Given the description of an element on the screen output the (x, y) to click on. 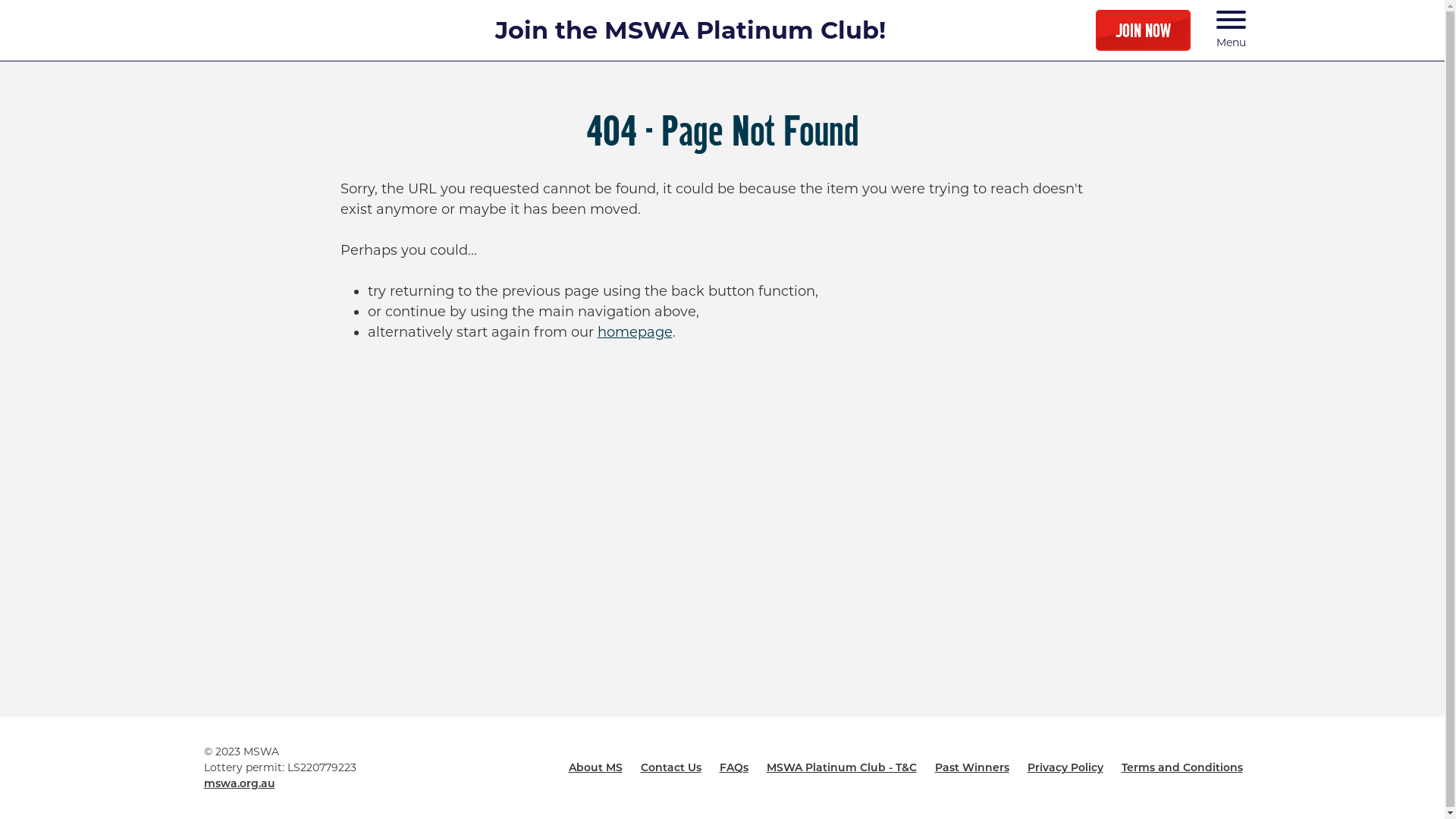
Terms and Conditions Element type: text (1181, 767)
Privacy Policy Element type: text (1064, 767)
Menu Element type: text (1230, 30)
MSWA Platinum Club - T&C Element type: text (840, 767)
FAQs Element type: text (732, 767)
About MS Element type: text (595, 767)
JOIN NOW Element type: text (1142, 29)
homepage Element type: text (634, 331)
mswa.org.au Element type: text (238, 783)
Contact Us Element type: text (670, 767)
Past Winners Element type: text (971, 767)
